Given the description of an element on the screen output the (x, y) to click on. 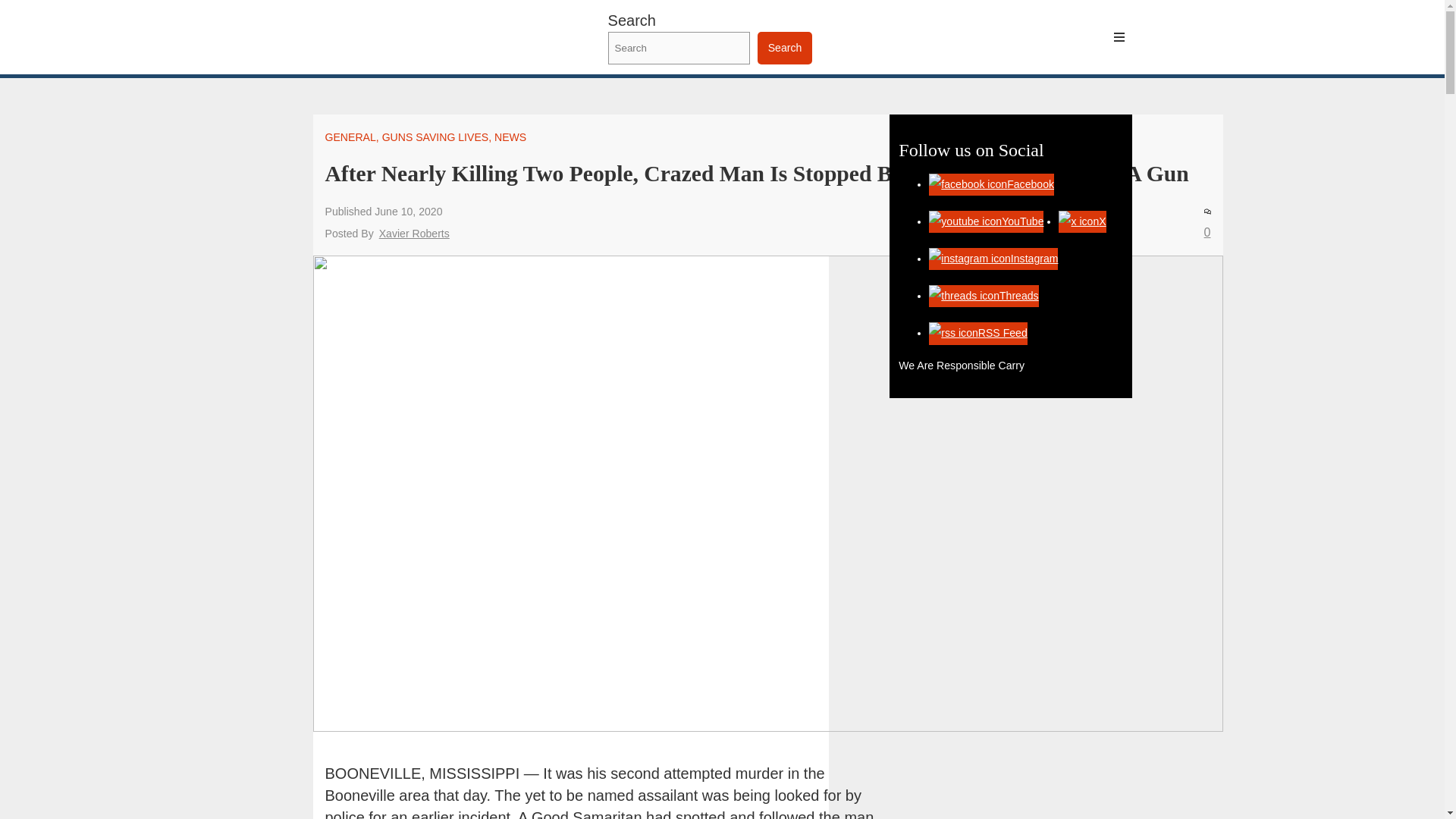
Search (784, 47)
NEWS (510, 137)
GENERAL (349, 137)
GUNS SAVING LIVES (435, 137)
Xavier Roberts (413, 233)
